Given the description of an element on the screen output the (x, y) to click on. 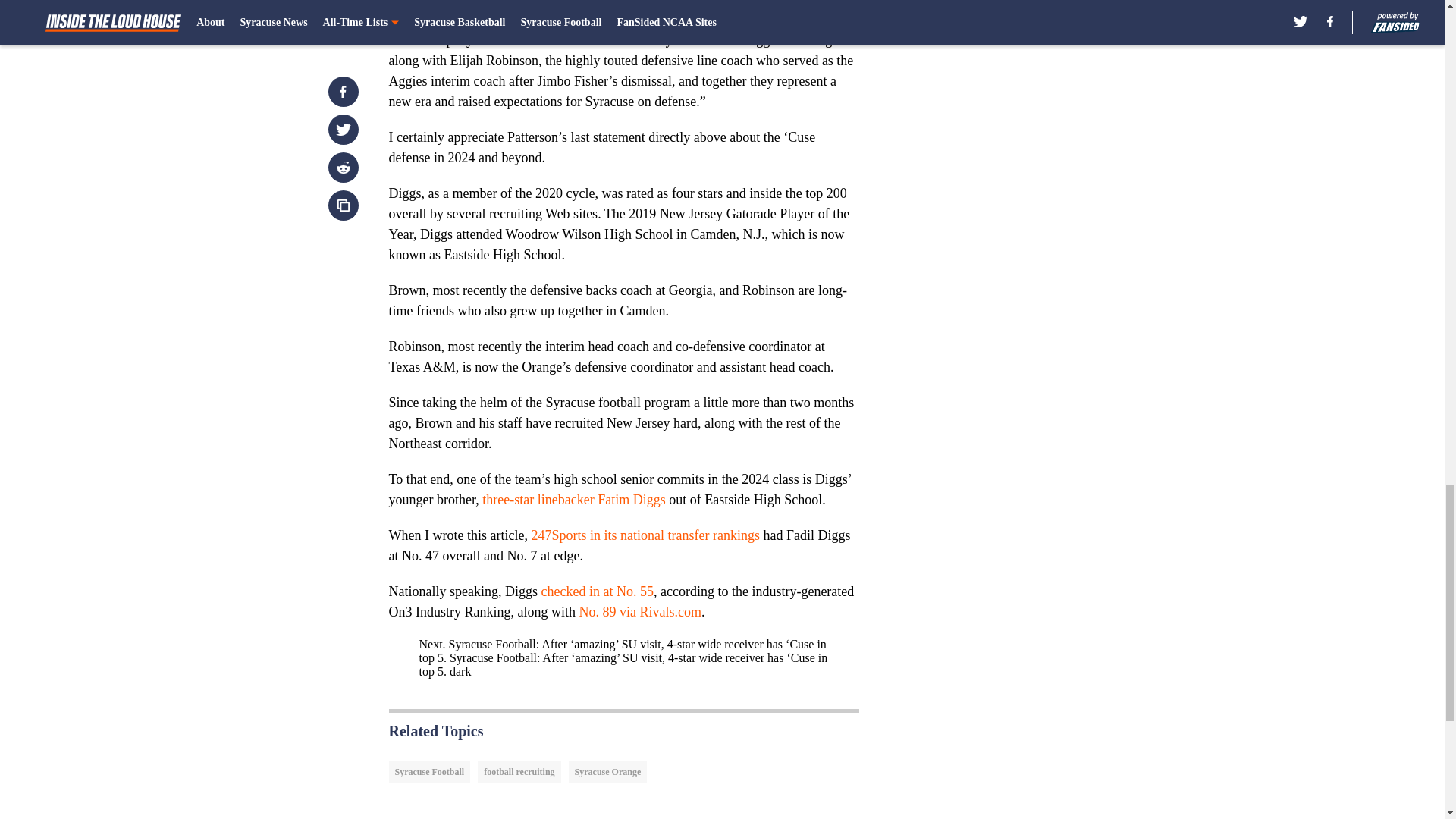
247Sports in its national transfer rankings (644, 534)
football recruiting (518, 771)
three-star linebacker Fatim Diggs (573, 499)
No. 89 via Rivals.com (639, 611)
checked in at No. 55 (596, 590)
Syracuse Orange (608, 771)
Syracuse Football (429, 771)
